Given the description of an element on the screen output the (x, y) to click on. 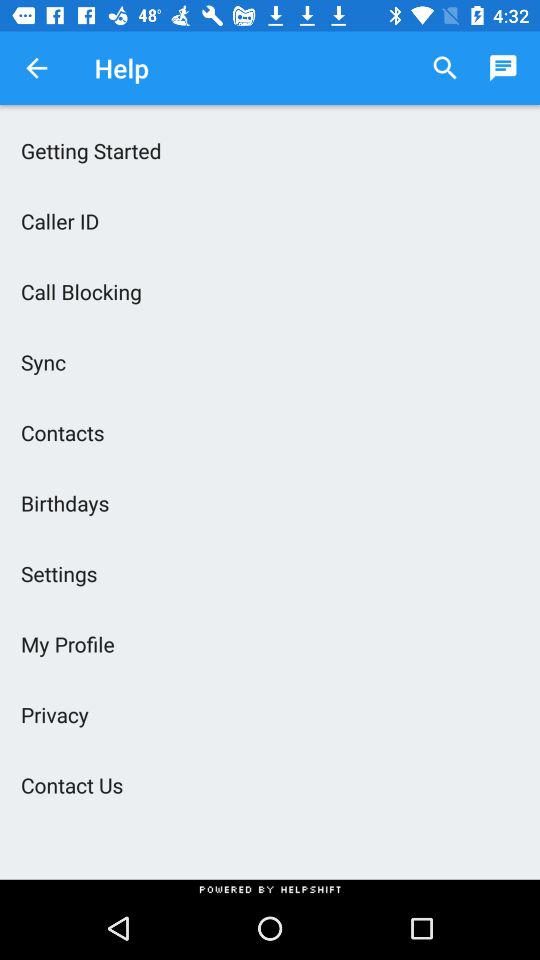
swipe until the privacy icon (270, 714)
